Given the description of an element on the screen output the (x, y) to click on. 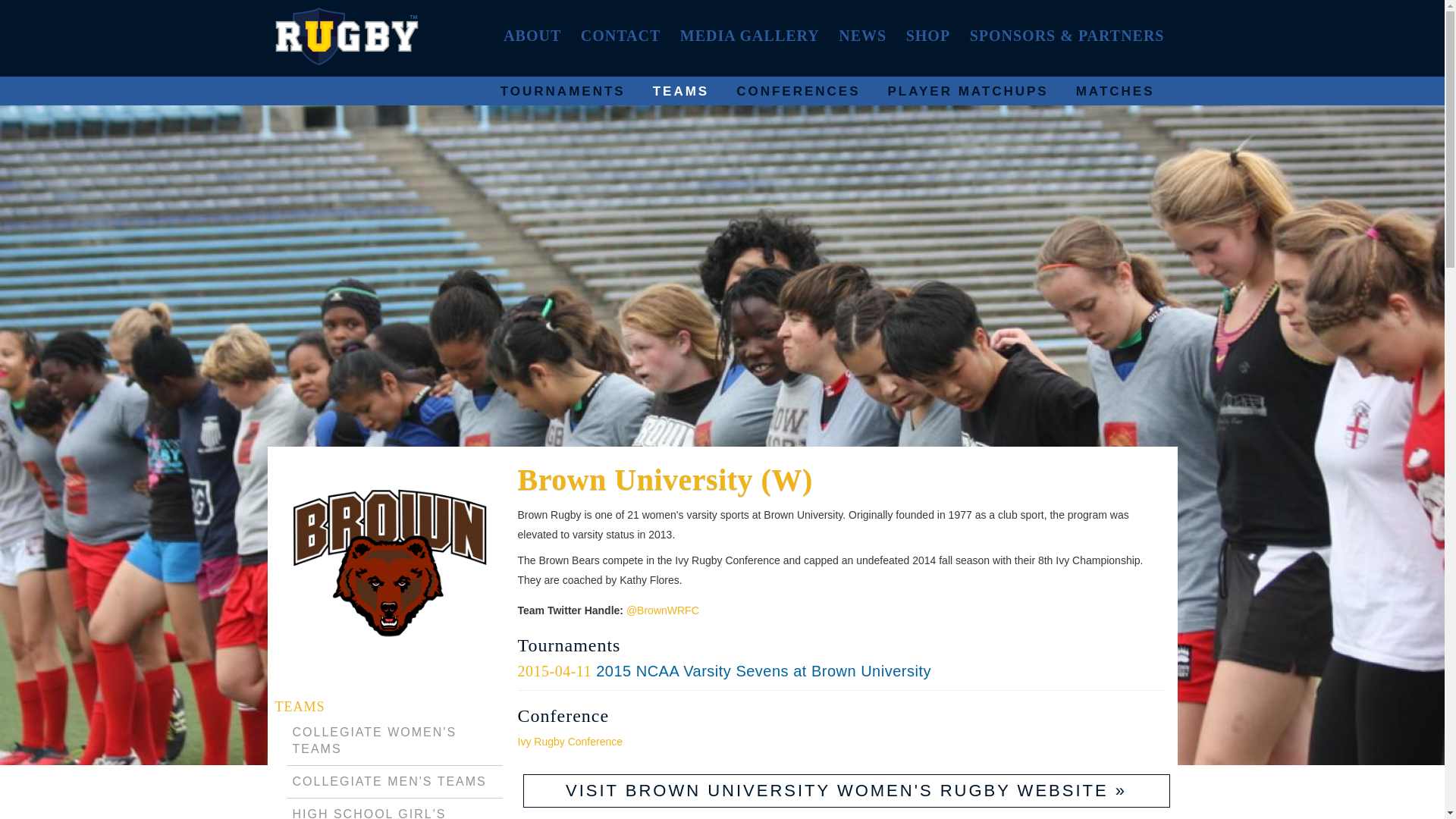
MEDIA GALLERY (749, 35)
NEWS (862, 35)
MATCHES (1114, 91)
Ivy Rugby Conference (569, 741)
PLAYER MATCHUPS (968, 91)
HIGH SCHOOL GIRL'S TEAMS (369, 813)
ABOUT (531, 35)
COLLEGIATE WOMEN'S TEAMS (374, 740)
COLLEGIATE MEN'S TEAMS (389, 780)
CONTACT (620, 35)
Skip to main content (691, 1)
TEAMS (299, 706)
CONFERENCES (798, 91)
TOURNAMENTS (563, 91)
SHOP (927, 35)
